Given the description of an element on the screen output the (x, y) to click on. 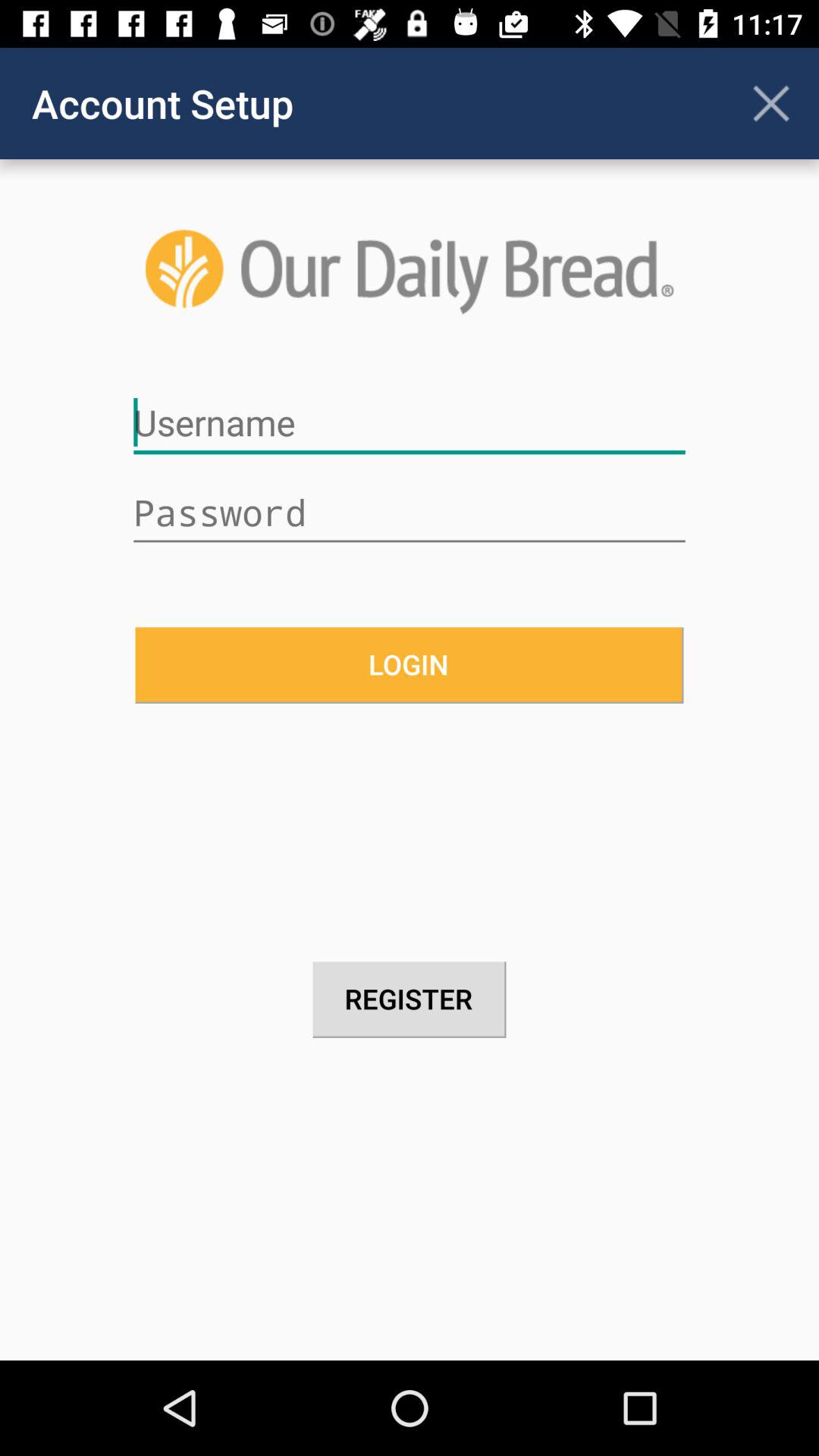
press register item (409, 999)
